Given the description of an element on the screen output the (x, y) to click on. 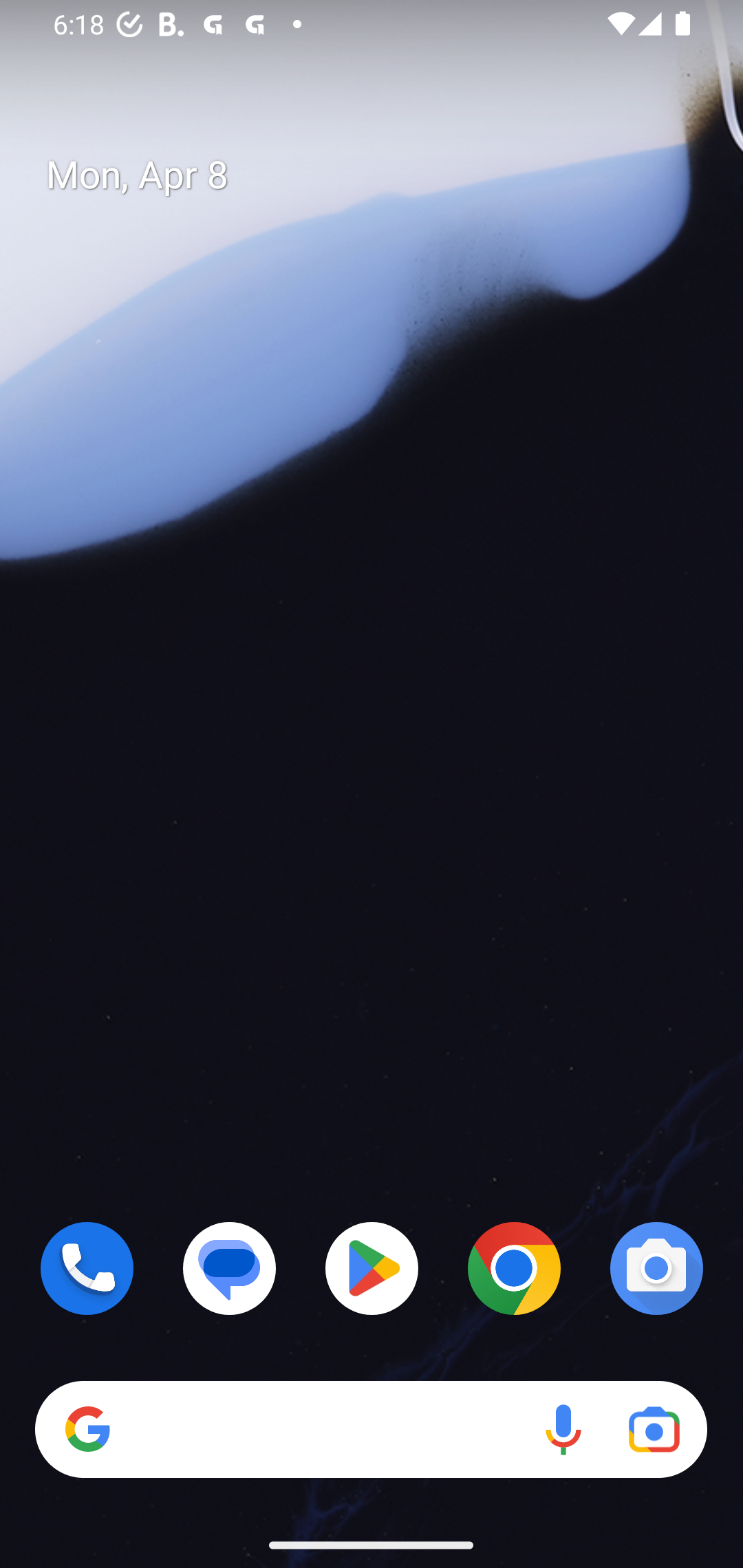
Mon, Apr 8 (386, 175)
Phone (86, 1268)
Messages (229, 1268)
Play Store (371, 1268)
Chrome (513, 1268)
Camera (656, 1268)
Search Voice search Google Lens (370, 1429)
Voice search (562, 1429)
Google Lens (653, 1429)
